Given the description of an element on the screen output the (x, y) to click on. 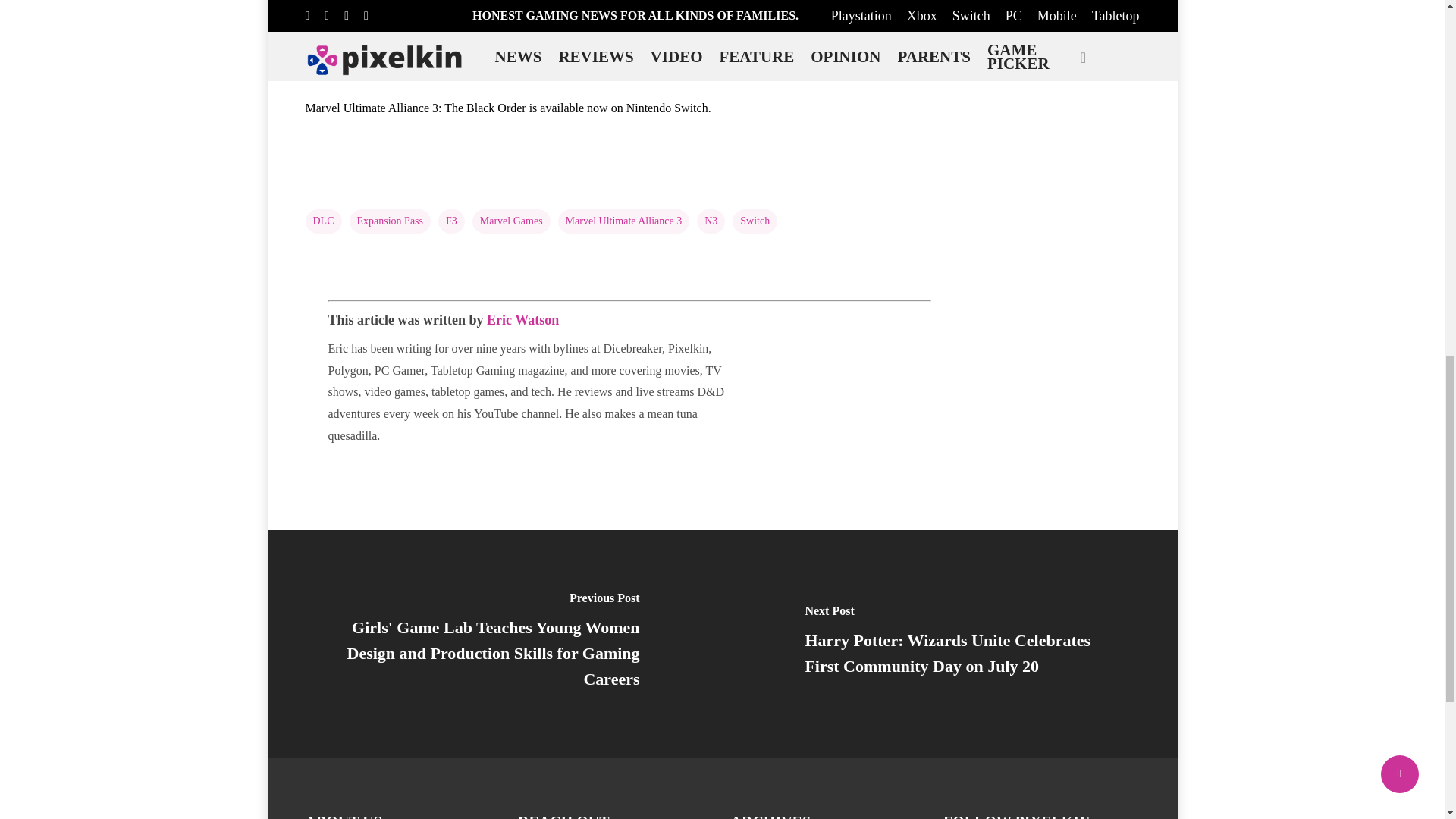
Posts by Eric Watson (522, 319)
DLC (322, 221)
Eric Watson (522, 319)
Expansion Pass (389, 221)
Switch (754, 221)
Marvel Ultimate Alliance 3 (623, 221)
N3 (711, 221)
F3 (451, 221)
Marvel Games (510, 221)
